Given the description of an element on the screen output the (x, y) to click on. 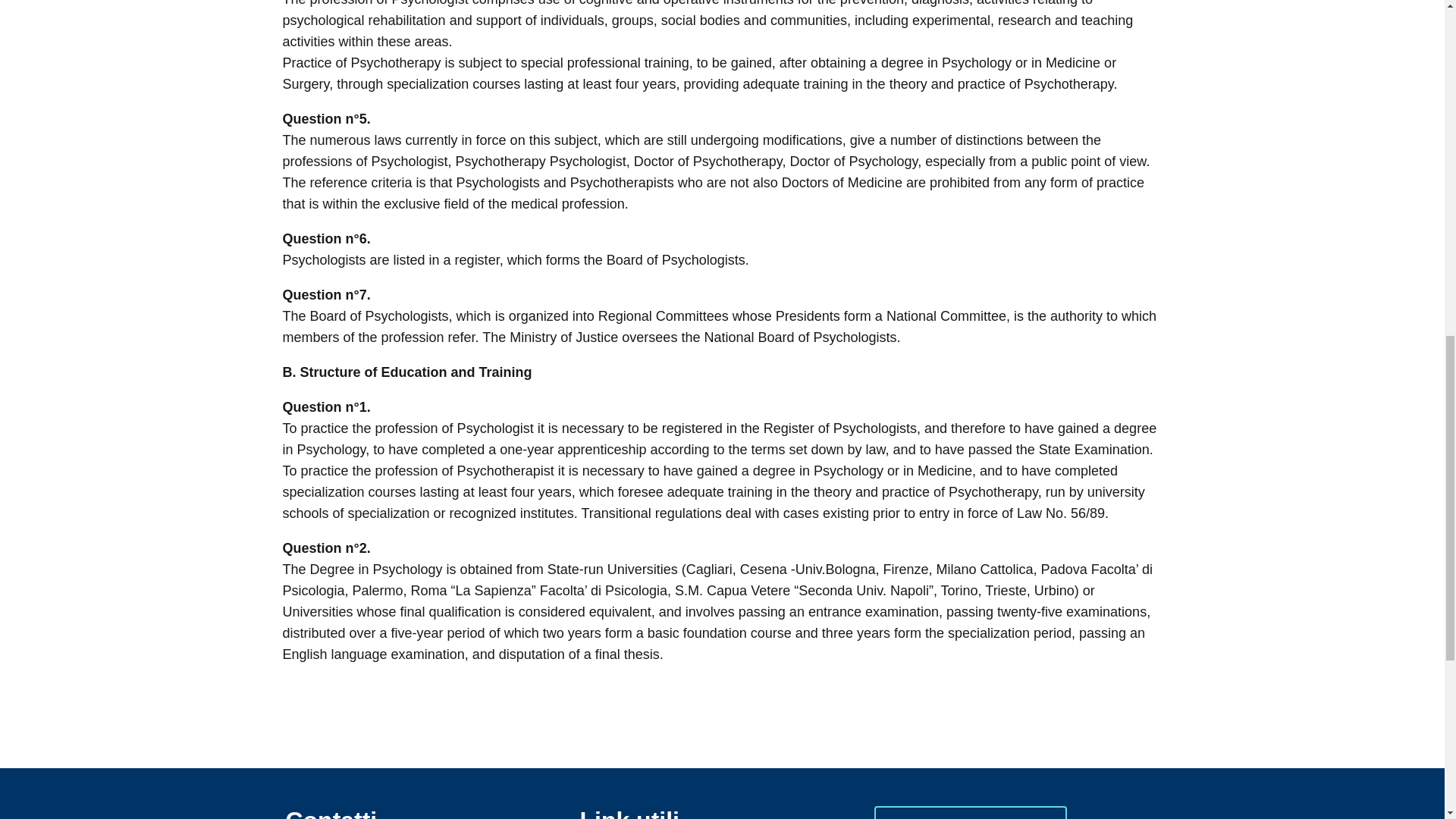
Amministrazione Trasparente (970, 812)
